Given the description of an element on the screen output the (x, y) to click on. 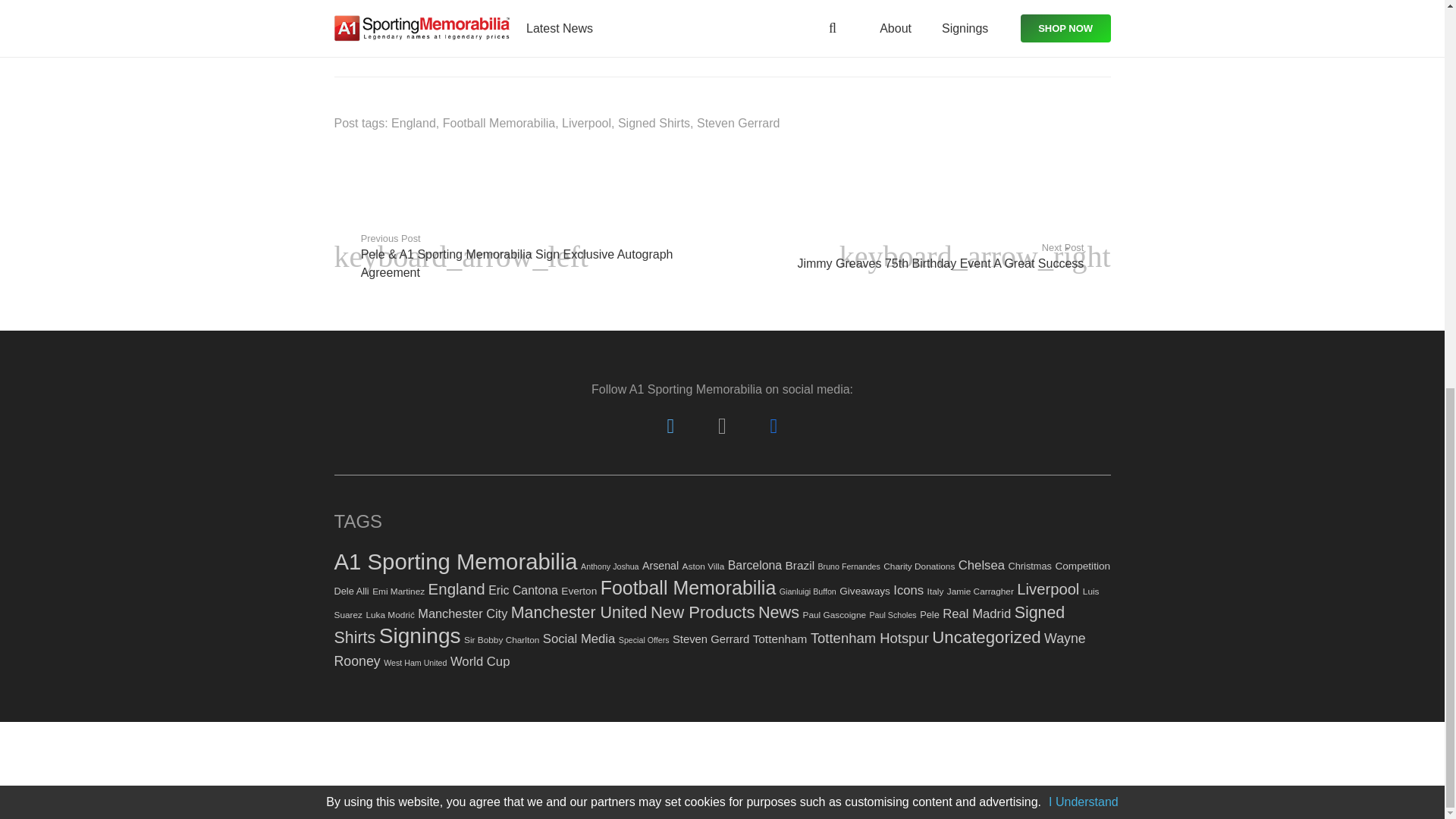
Anthony Joshua (609, 565)
Competition (1081, 565)
Jimmy Greaves 75th Birthday Event A Great Success (915, 255)
Eric Cantona (522, 590)
Brazil (799, 564)
England (413, 123)
Gianluigi Buffon (806, 591)
Football Memorabilia (499, 123)
Dele Alli (350, 591)
Bruno Fernandes (849, 565)
